Given the description of an element on the screen output the (x, y) to click on. 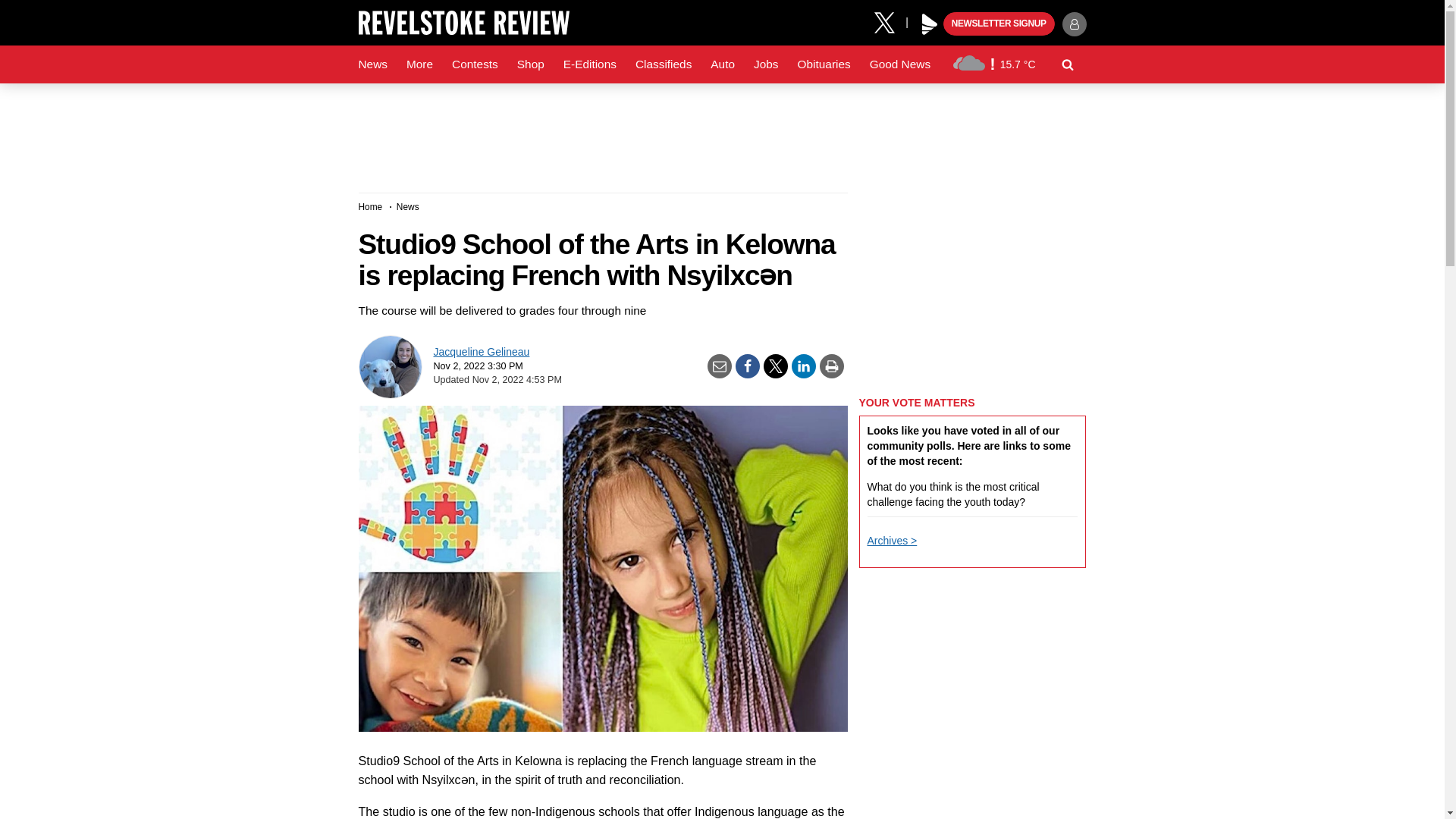
News (372, 64)
NEWSLETTER SIGNUP (998, 24)
Black Press Media (929, 24)
X (889, 21)
3rd party ad content (721, 131)
3rd party ad content (972, 287)
Play (929, 24)
